Given the description of an element on the screen output the (x, y) to click on. 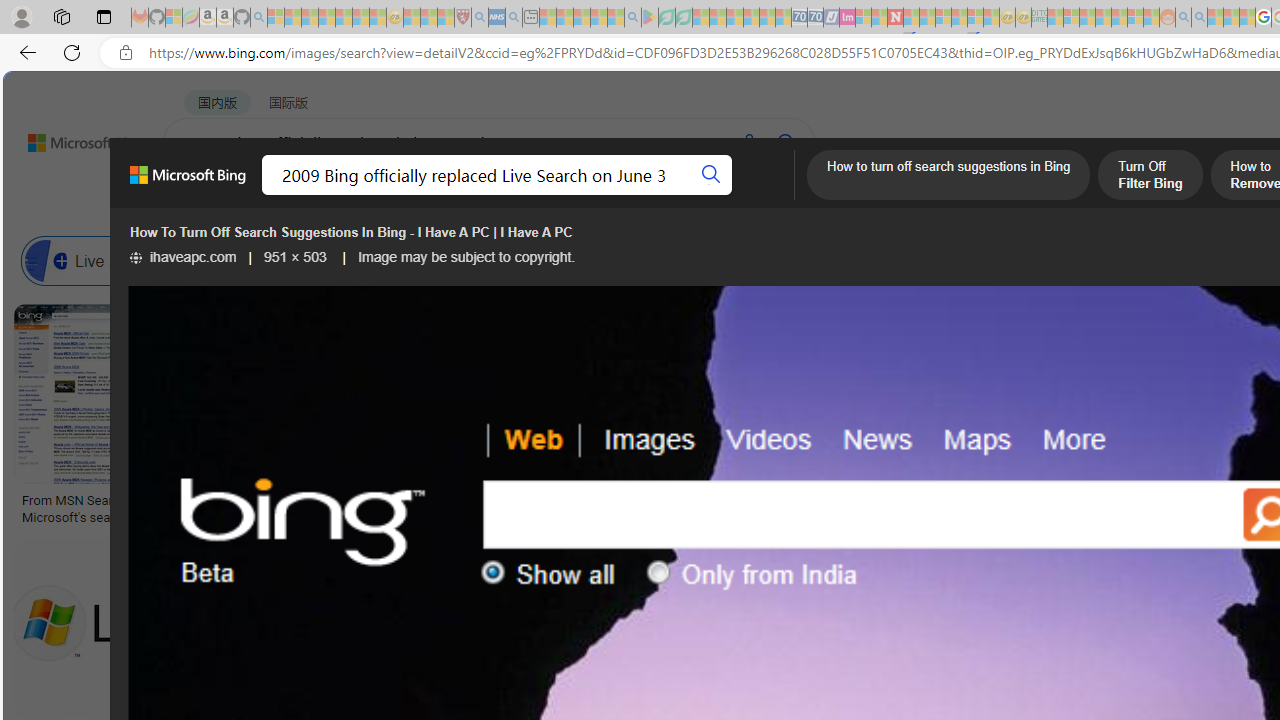
New tab - Sleeping (530, 17)
Bing Voice Search (275, 260)
Bing Logo and symbol, meaning, history, PNG, brandSave (422, 417)
Bing Best Search Engine (1115, 260)
utah sues federal government - Search - Sleeping (513, 17)
Search button (712, 174)
